Given the description of an element on the screen output the (x, y) to click on. 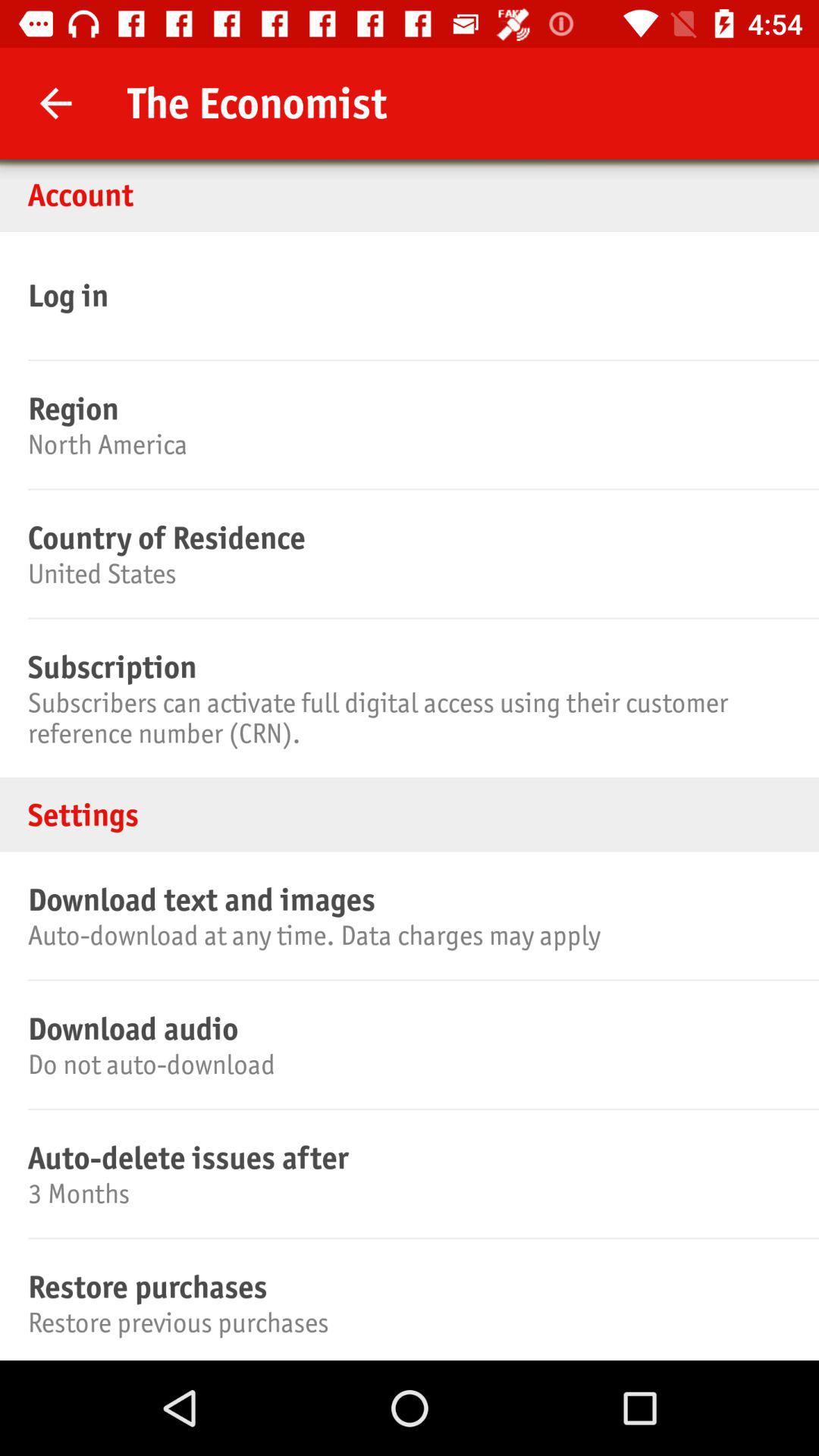
launch auto delete issues icon (407, 1157)
